Given the description of an element on the screen output the (x, y) to click on. 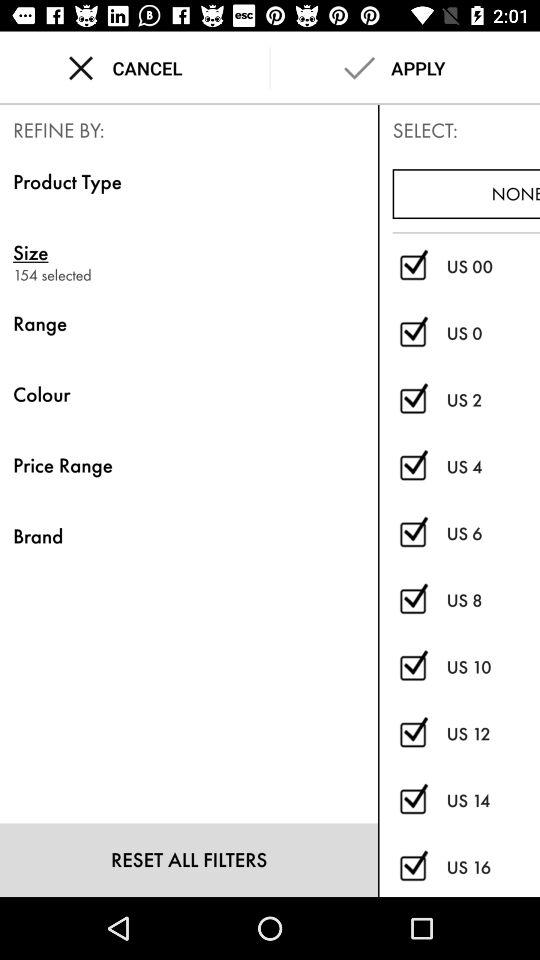
choose the item above us 8 icon (493, 533)
